Given the description of an element on the screen output the (x, y) to click on. 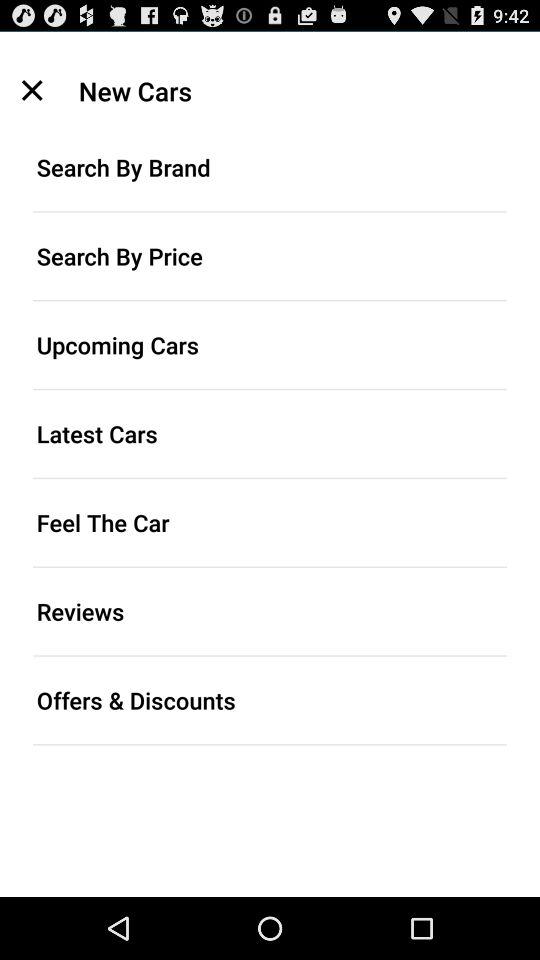
turn on the icon to the left of new cars (32, 90)
